Given the description of an element on the screen output the (x, y) to click on. 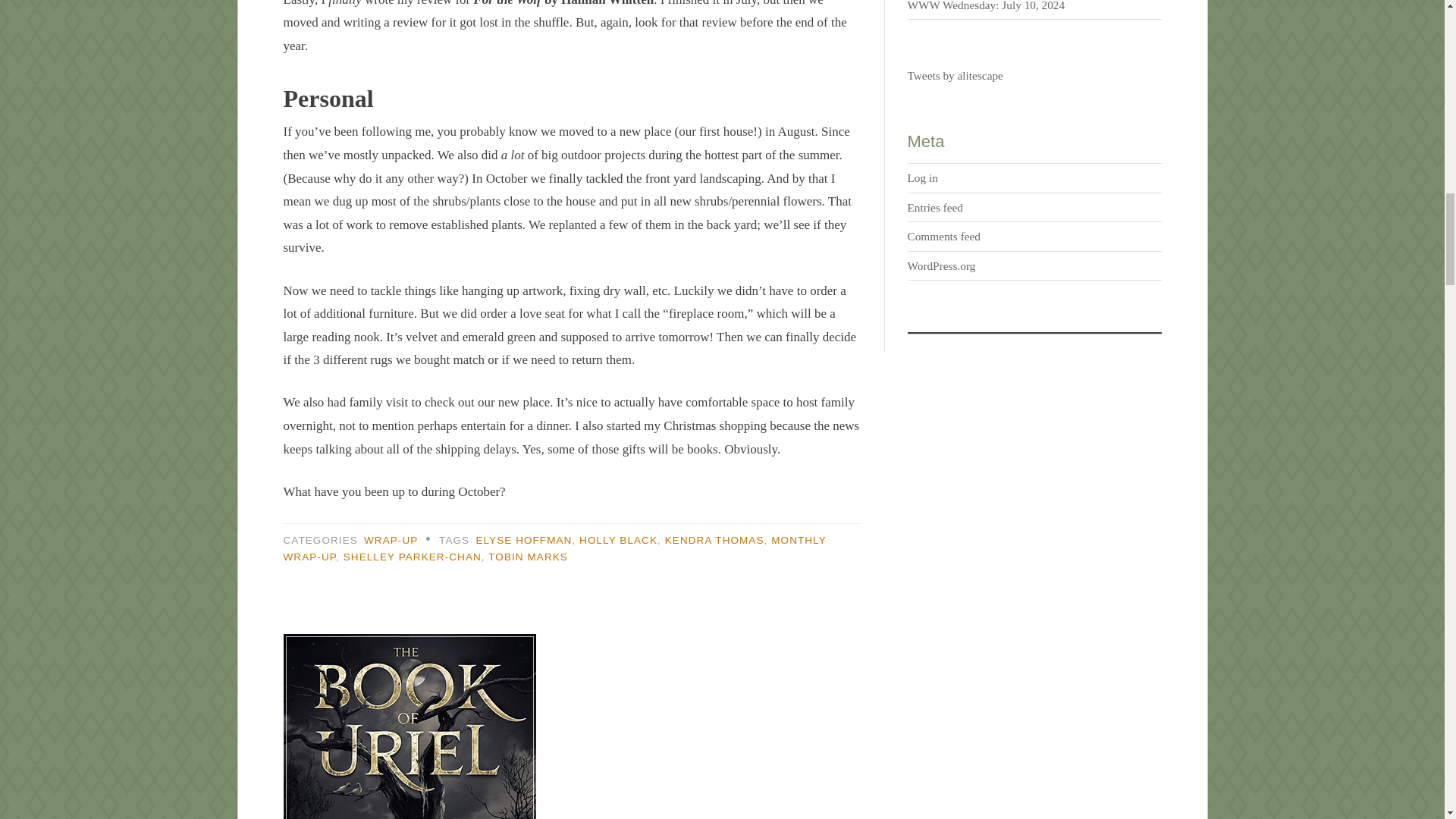
HOLLY BLACK (618, 540)
KENDRA THOMAS (714, 540)
TOBIN MARKS (527, 556)
MONTHLY WRAP-UP (555, 548)
ELYSE HOFFMAN (524, 540)
WRAP-UP (390, 540)
SHELLEY PARKER-CHAN (412, 556)
